Given the description of an element on the screen output the (x, y) to click on. 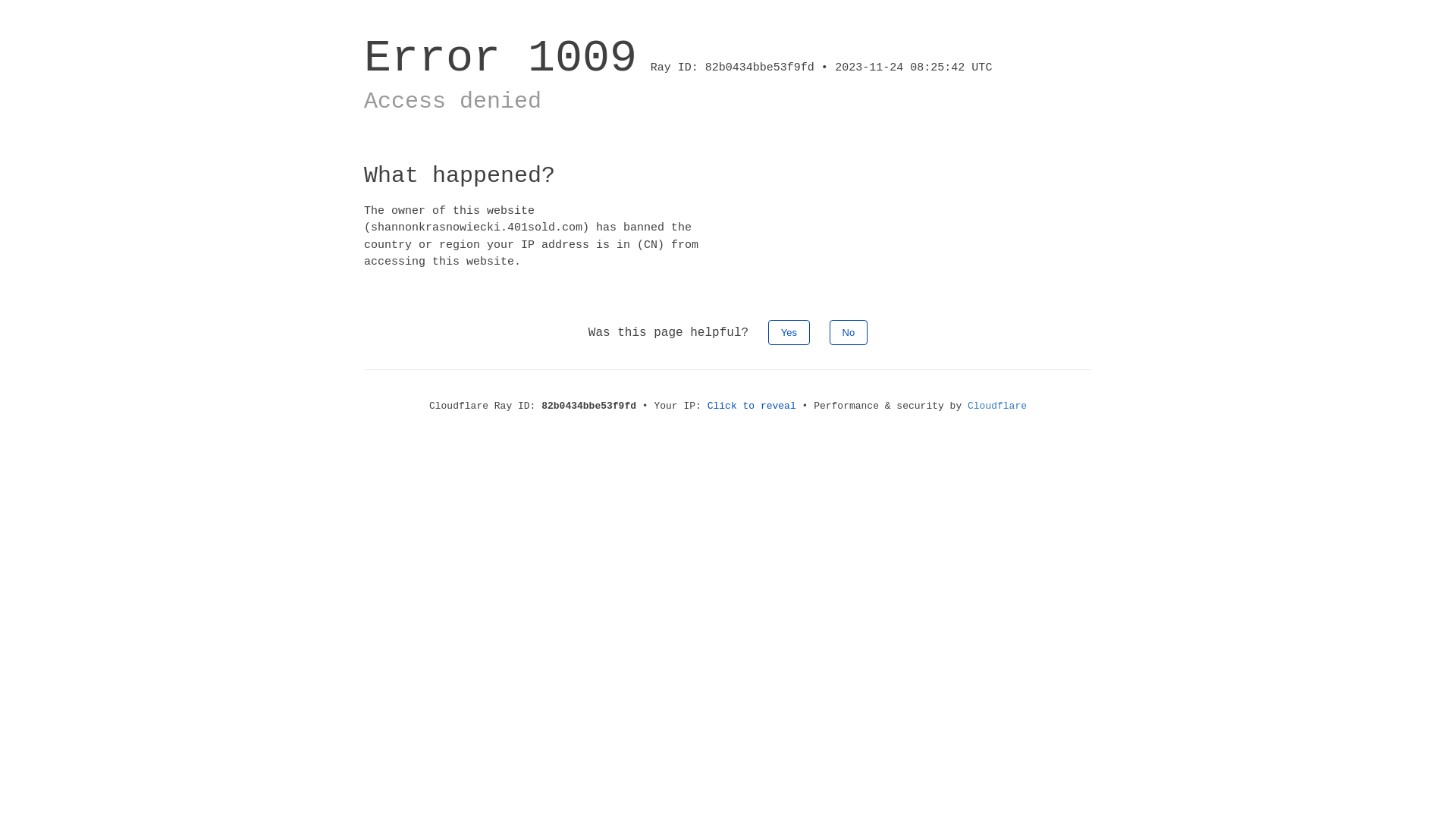
Click to reveal Element type: text (751, 405)
Cloudflare Element type: text (996, 405)
No Element type: text (848, 332)
Yes Element type: text (788, 332)
